Given the description of an element on the screen output the (x, y) to click on. 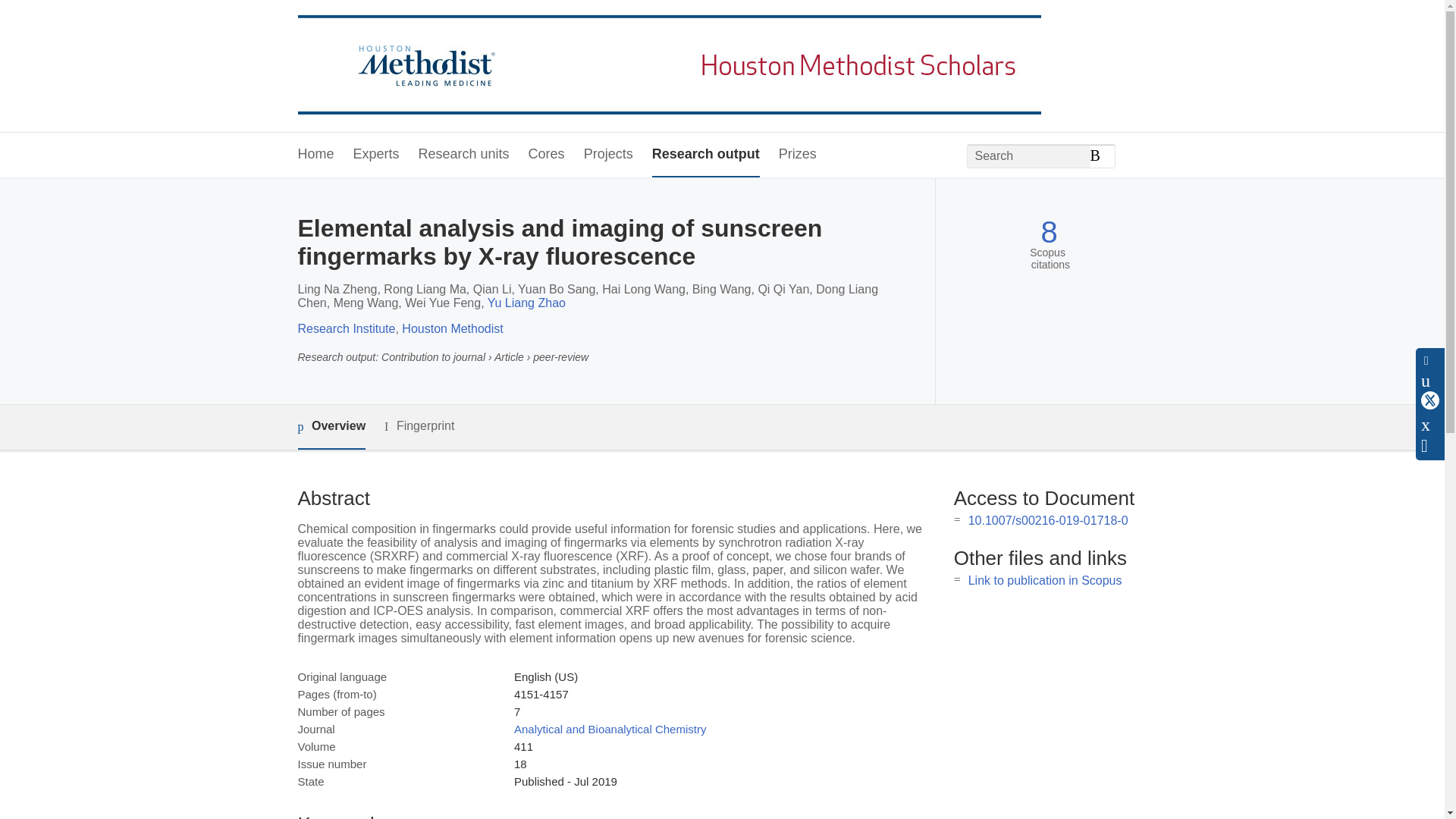
Houston Methodist Scholars Home (669, 66)
Research output (706, 154)
Research Institute (345, 328)
Yu Liang Zhao (526, 302)
Projects (608, 154)
Experts (375, 154)
Research units (464, 154)
Houston Methodist (451, 328)
Fingerprint (419, 425)
